Given the description of an element on the screen output the (x, y) to click on. 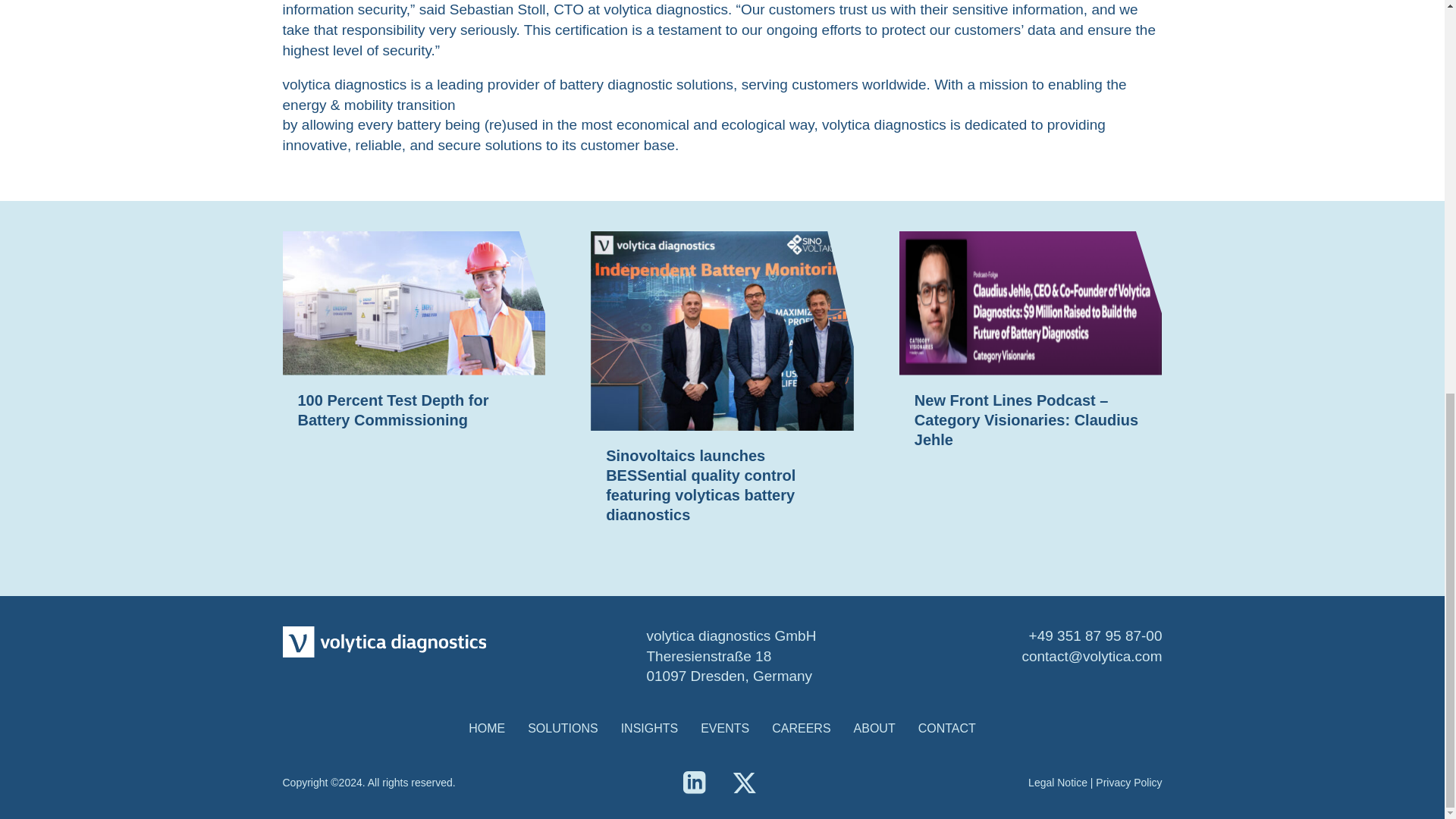
100 Percent Test Depth for Battery Commissioning (392, 410)
100 Percent Test Depth for Battery Commissioning (392, 410)
HOME (486, 728)
100 Percent Test Depth for Battery Commissioning (413, 302)
